Given the description of an element on the screen output the (x, y) to click on. 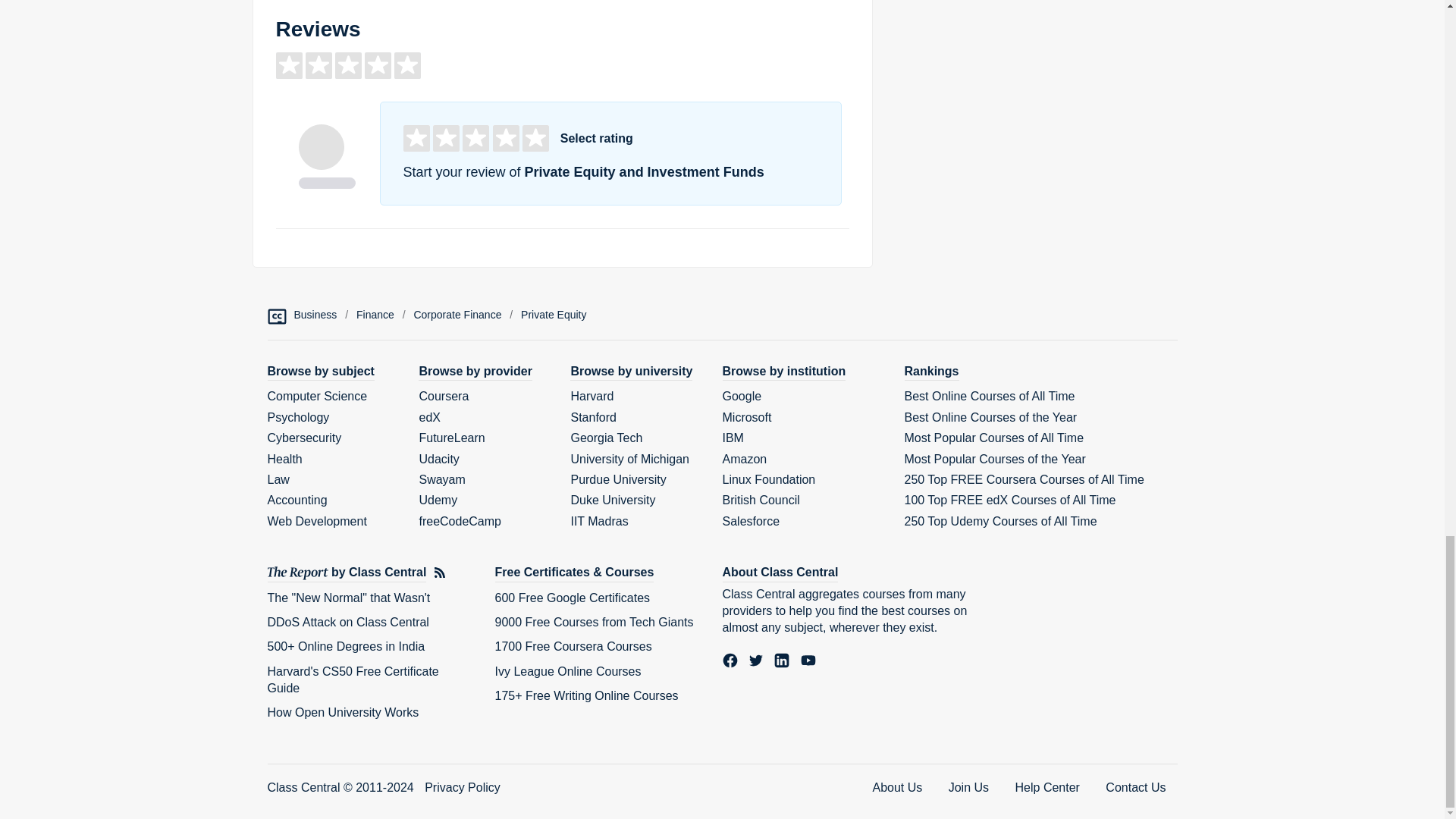
Free Courses and Certificates (574, 572)
How Open University Works (342, 712)
The "New Normal" that Wasn't (347, 597)
600 Free Google Certificates (572, 597)
DDoS Attack on Class Central (347, 621)
9000 Free Courses from Tech Giants (594, 621)
Harvard's CS50 Free Certificate Guide (352, 679)
Ivy League Online Courses (567, 671)
1700 Free Coursera Courses (572, 645)
